Given the description of an element on the screen output the (x, y) to click on. 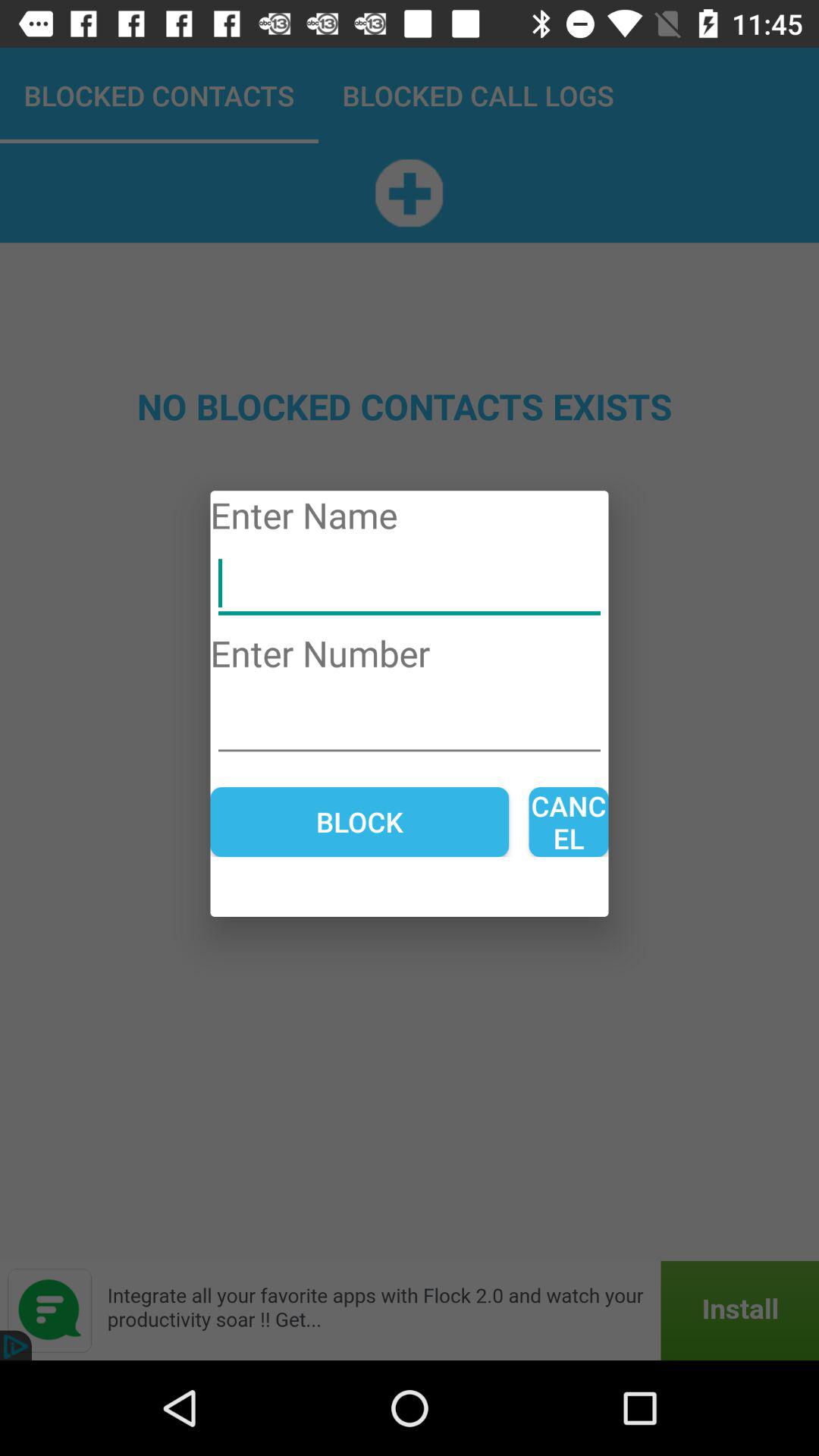
enter phone number (409, 722)
